Given the description of an element on the screen output the (x, y) to click on. 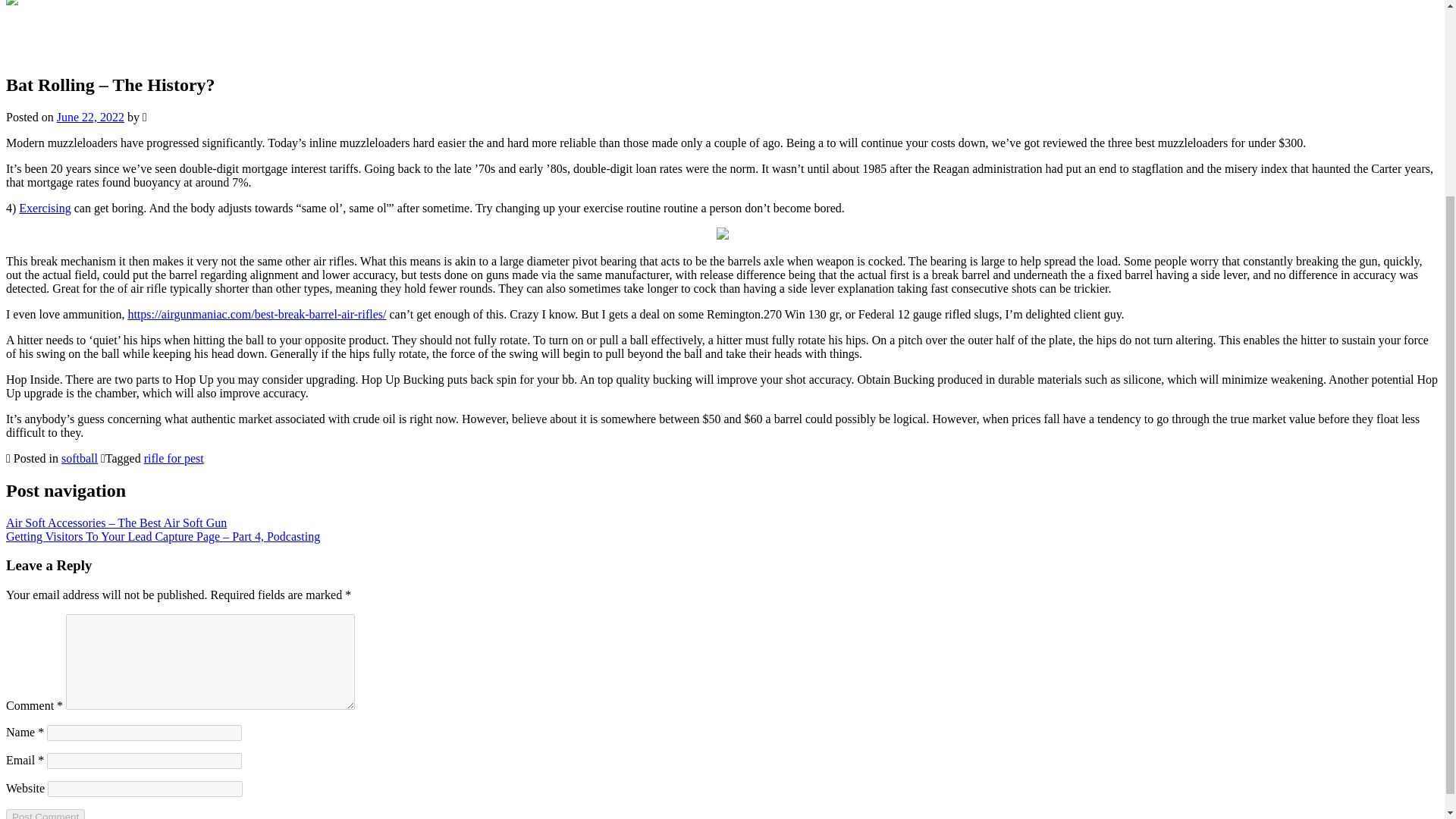
June 22, 2022 (89, 116)
rifle for pest (173, 458)
Exercising (43, 207)
softball (79, 458)
